Given the description of an element on the screen output the (x, y) to click on. 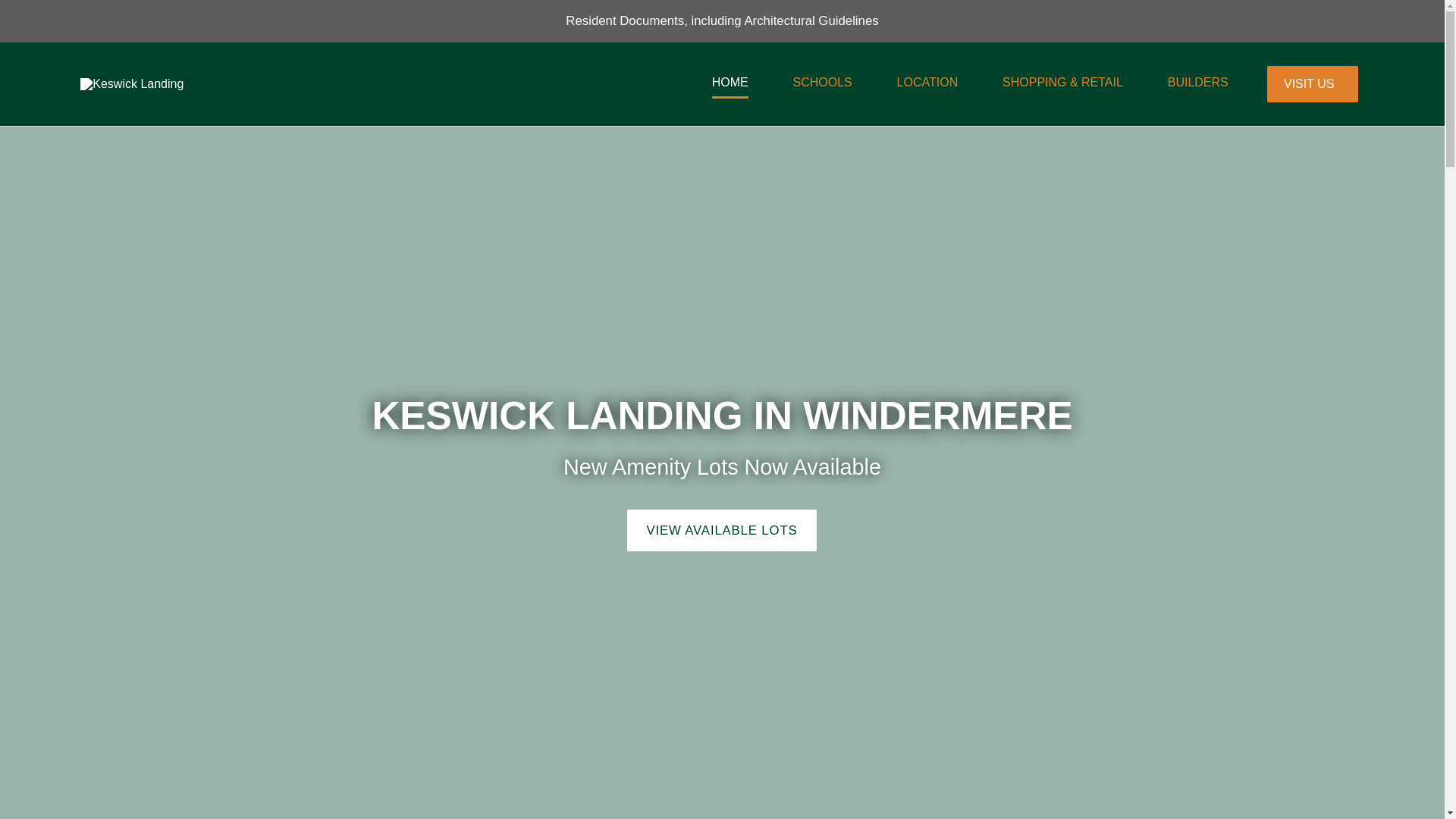
VIEW AVAILABLE LOTS (721, 530)
SCHOOLS (823, 87)
HOME (730, 87)
BUILDERS (1197, 87)
VISIT US   (1312, 84)
LOCATION (927, 87)
